Given the description of an element on the screen output the (x, y) to click on. 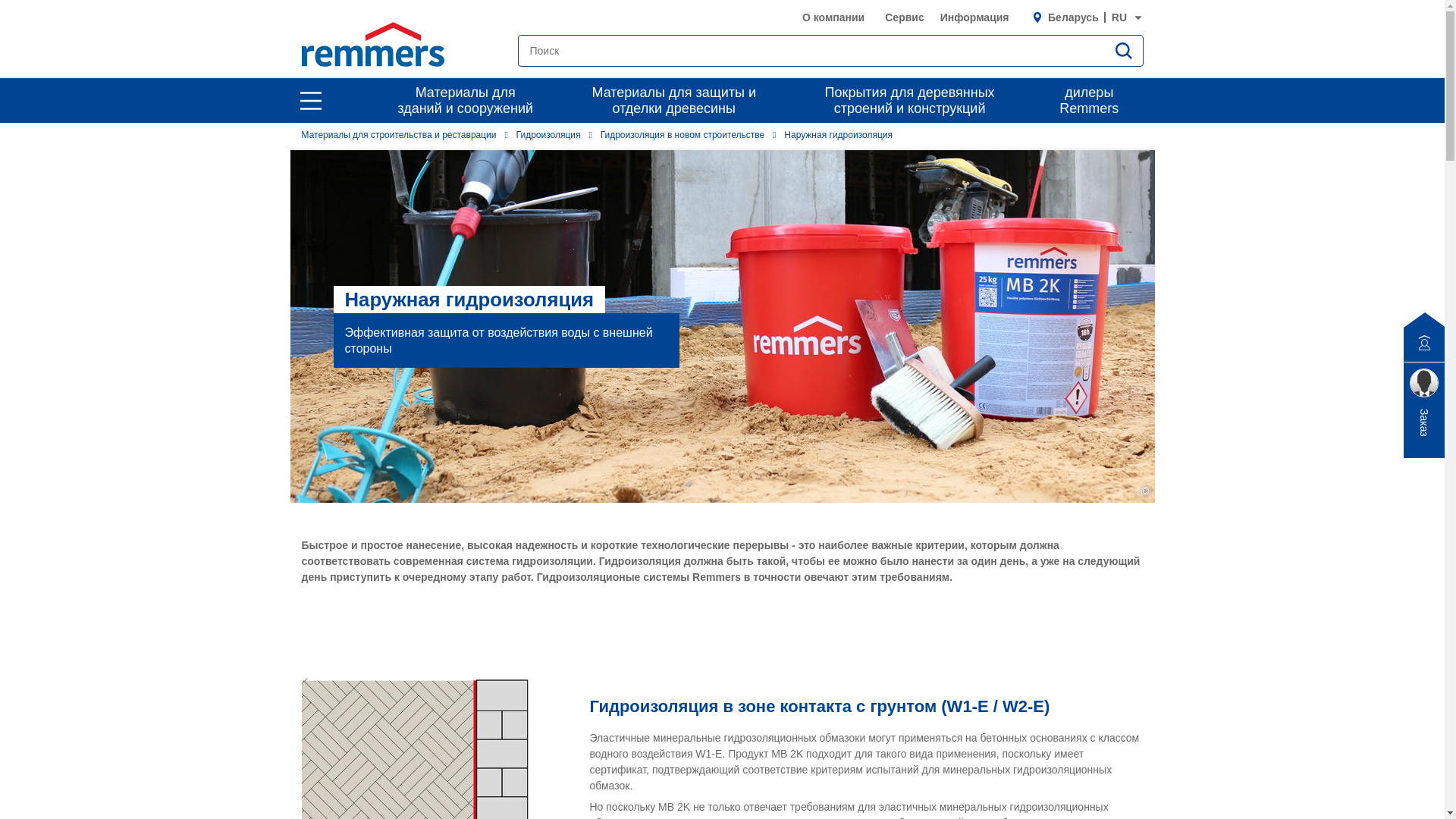
open main navigation Element type: text (310, 100)
